Given the description of an element on the screen output the (x, y) to click on. 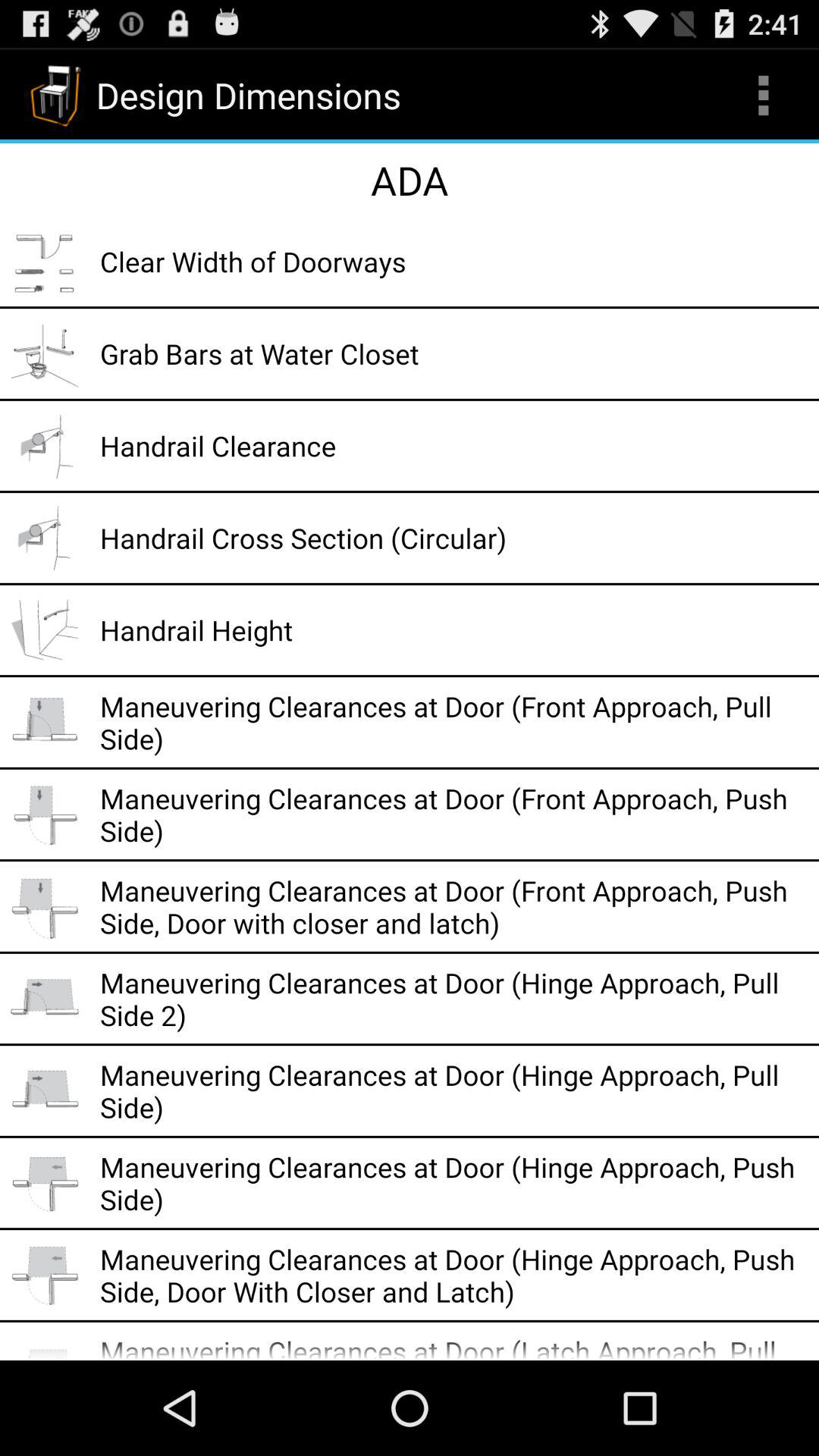
turn off app to the right of the design dimensions (763, 95)
